Given the description of an element on the screen output the (x, y) to click on. 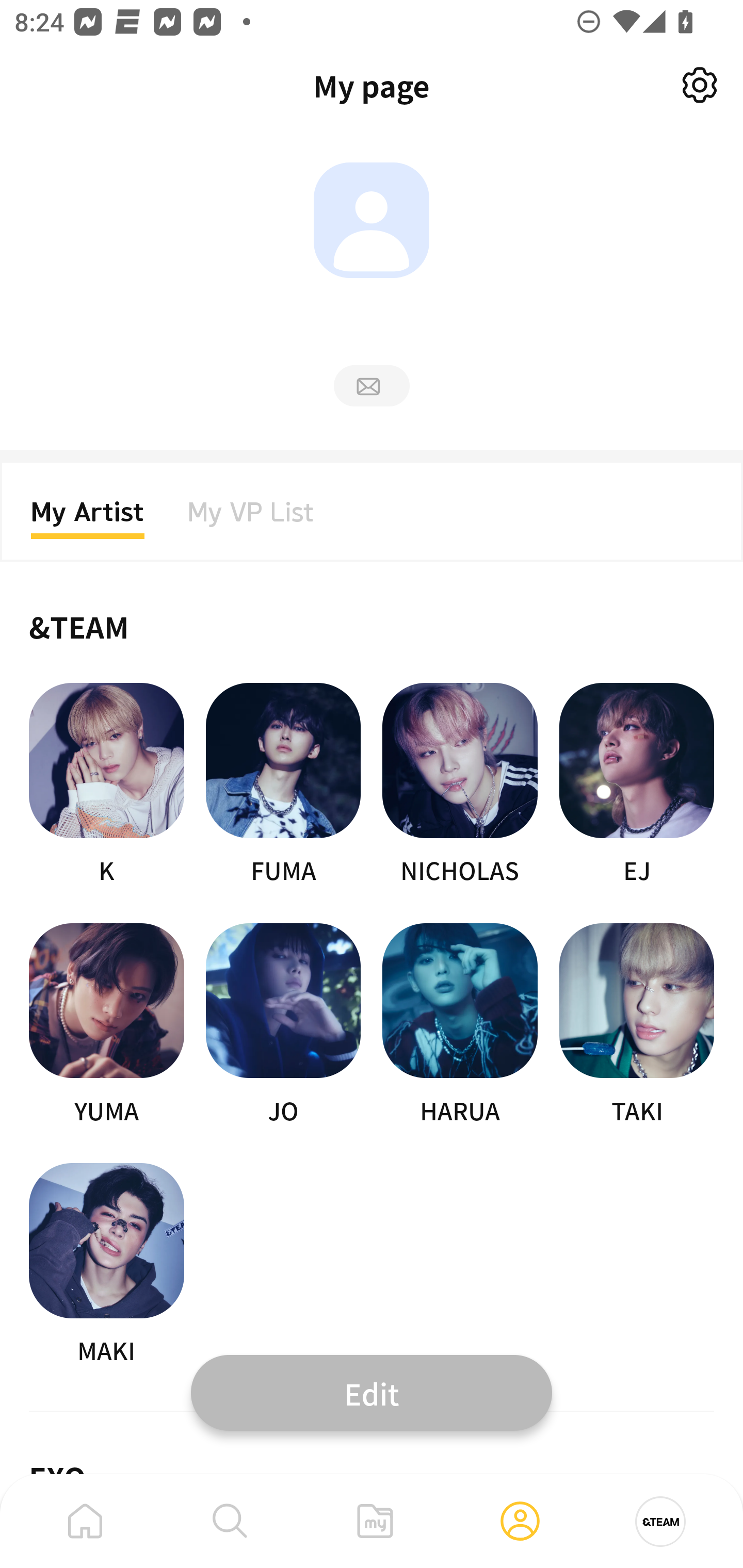
My Artist (87, 517)
My VP List (250, 517)
K (106, 785)
FUMA (282, 785)
NICHOLAS (459, 785)
EJ (636, 785)
YUMA (106, 1025)
JO (282, 1025)
HARUA (459, 1025)
TAKI (636, 1025)
MAKI (106, 1265)
Edit (371, 1392)
